Given the description of an element on the screen output the (x, y) to click on. 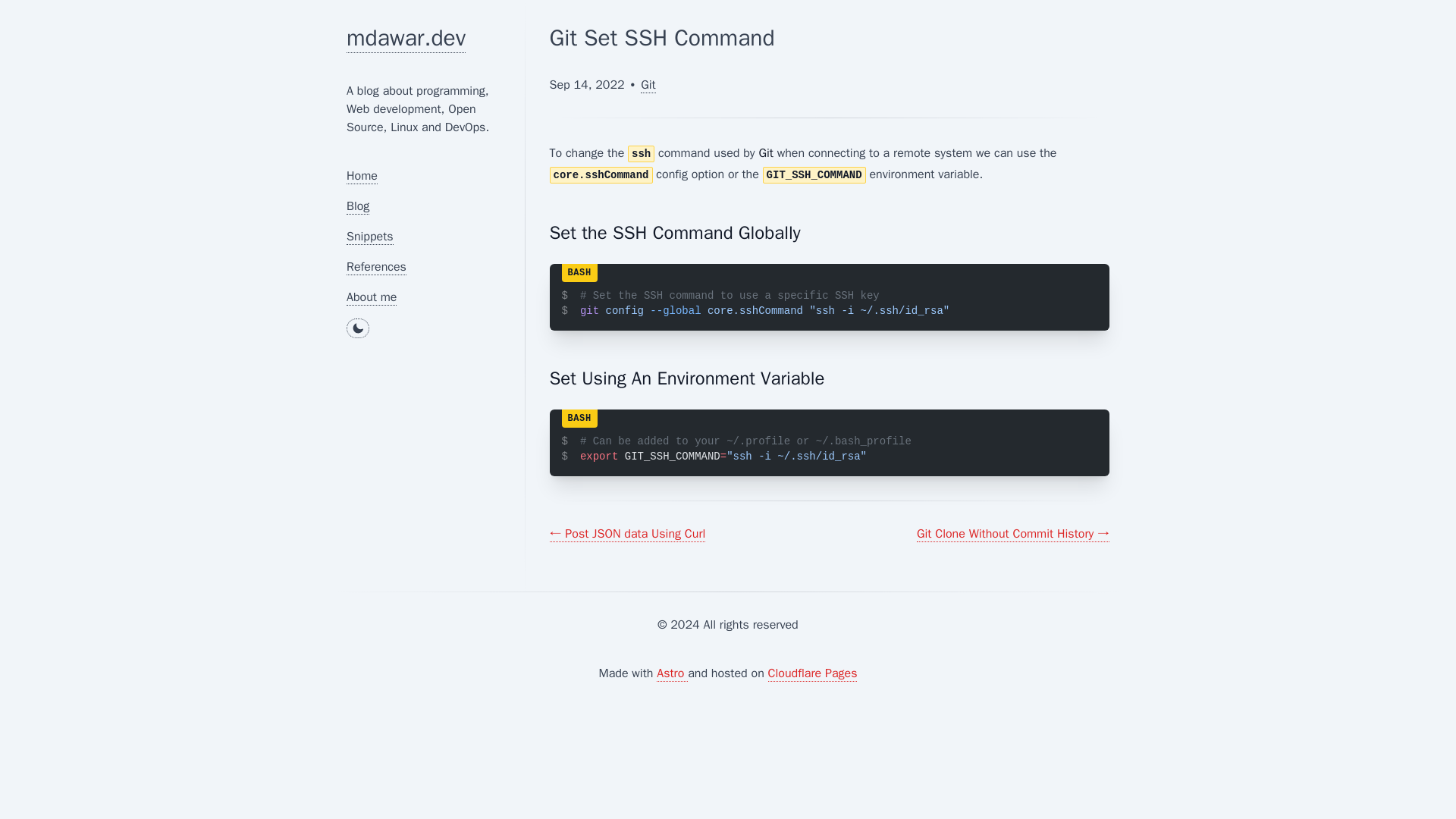
Blog (357, 206)
Git (647, 84)
Home (361, 176)
About me (371, 297)
References (376, 267)
Astro (671, 673)
Snippets (369, 236)
Cloudflare Pages (812, 673)
mdawar.dev (405, 38)
